Given the description of an element on the screen output the (x, y) to click on. 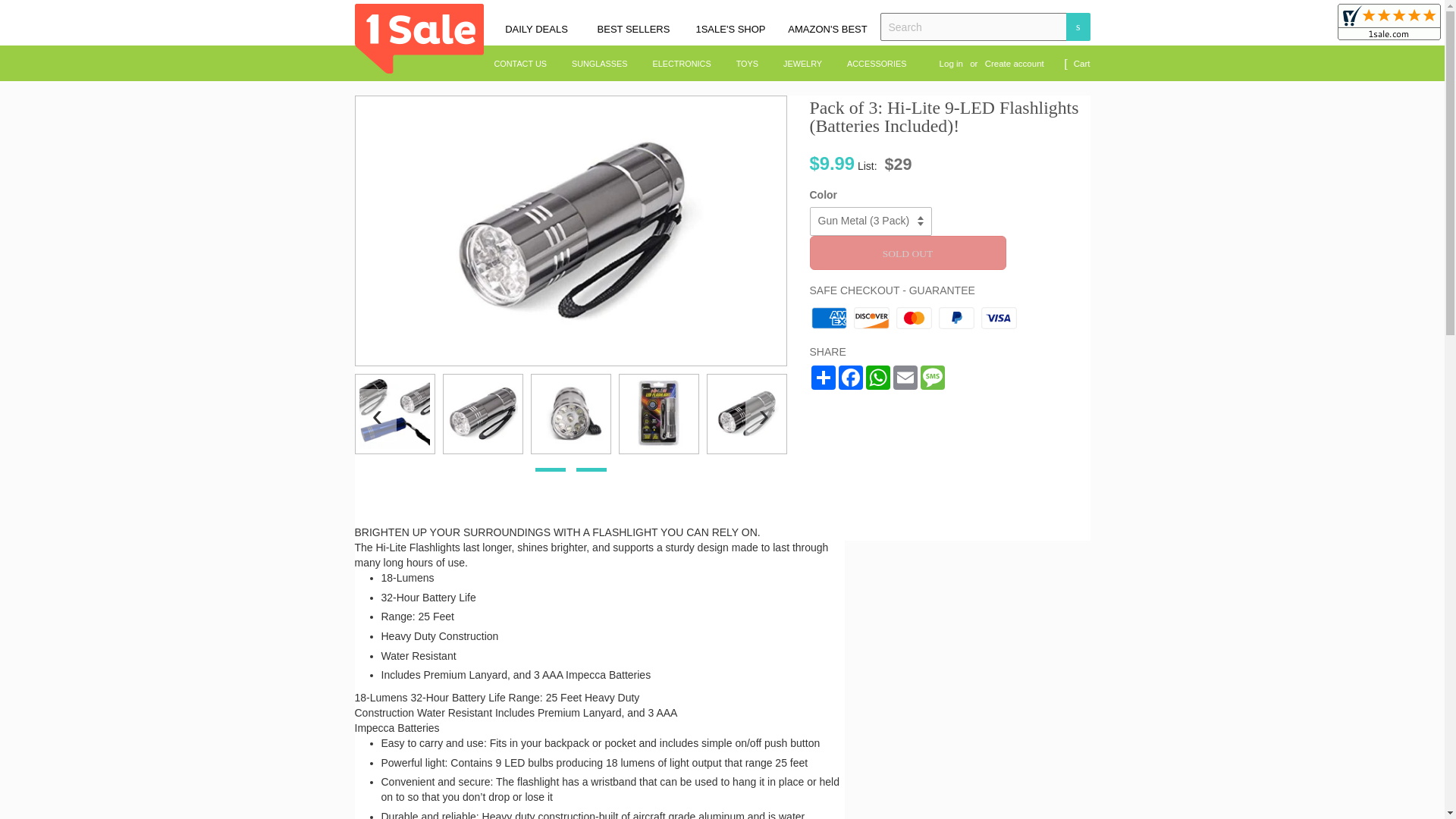
BEST SELLERS (633, 29)
ELECTRONICS (682, 63)
Advertisement (978, 672)
AMAZON'S BEST (827, 29)
TOYS (747, 63)
Cart (1082, 64)
1SALE'S SHOP (729, 29)
Create account (1014, 62)
SEARCH (1077, 26)
JEWELRY (801, 63)
DAILY DEALS (536, 29)
CONTACT US (525, 63)
SUNGLASSES (599, 63)
Log in (950, 62)
ACCESSORIES (870, 63)
